Given the description of an element on the screen output the (x, y) to click on. 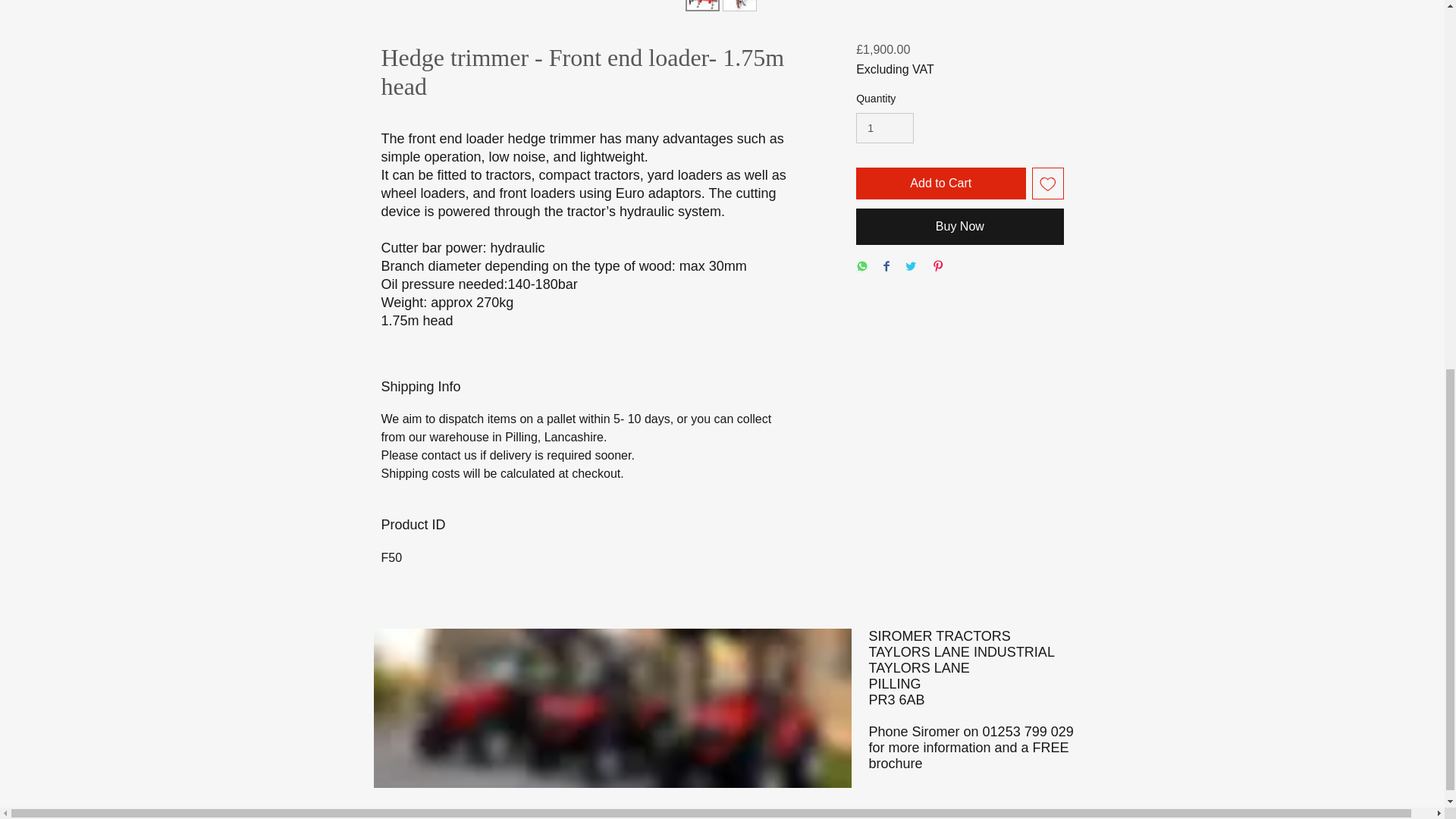
Buy Now (959, 226)
1 (885, 128)
Add to Cart (940, 183)
01253 799 029 (1028, 731)
